Given the description of an element on the screen output the (x, y) to click on. 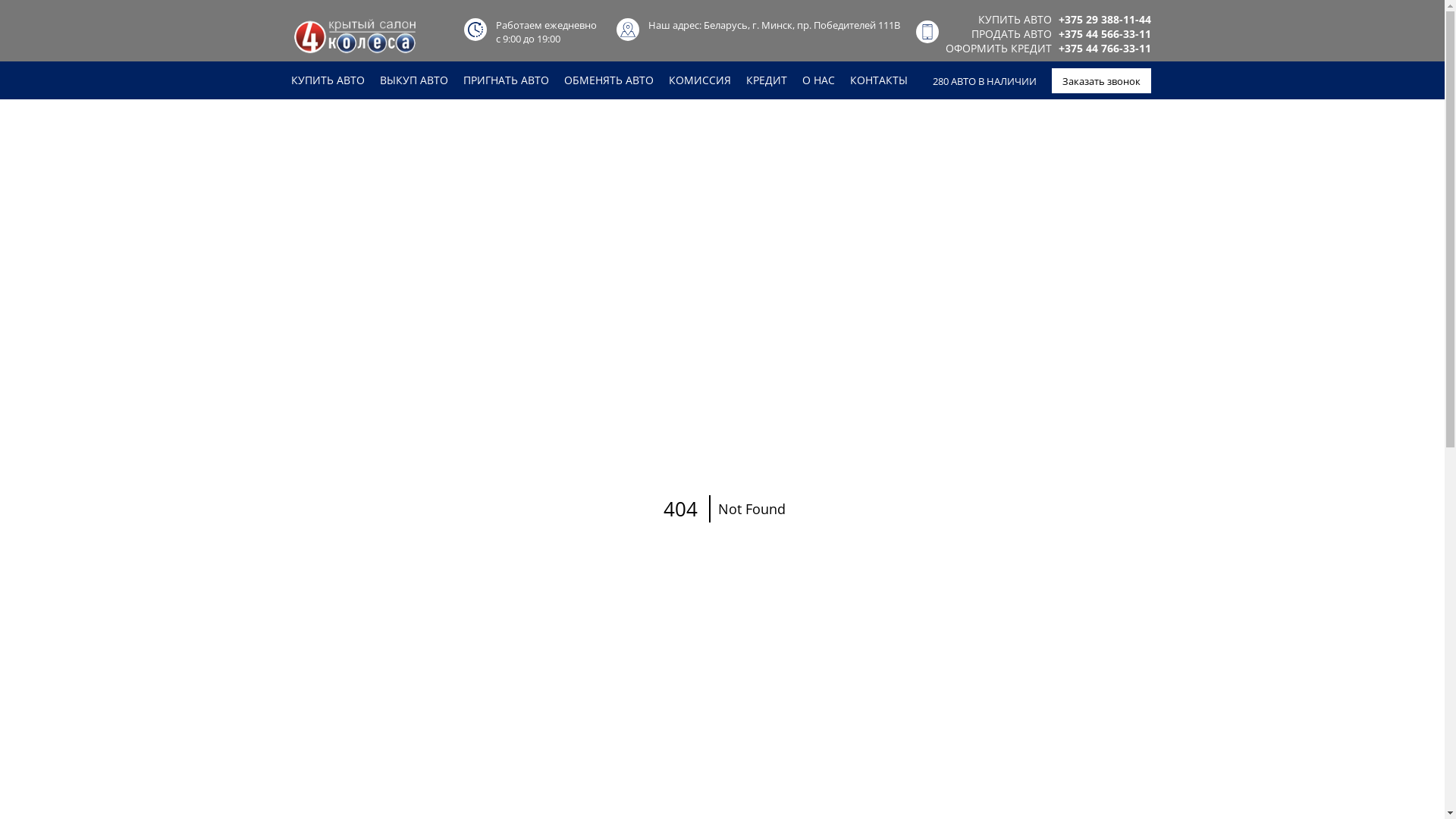
+375 29 388-11-44 Element type: text (1104, 19)
+375 44 766-33-11 Element type: text (1104, 47)
+375 44 566-33-11 Element type: text (1104, 33)
